Given the description of an element on the screen output the (x, y) to click on. 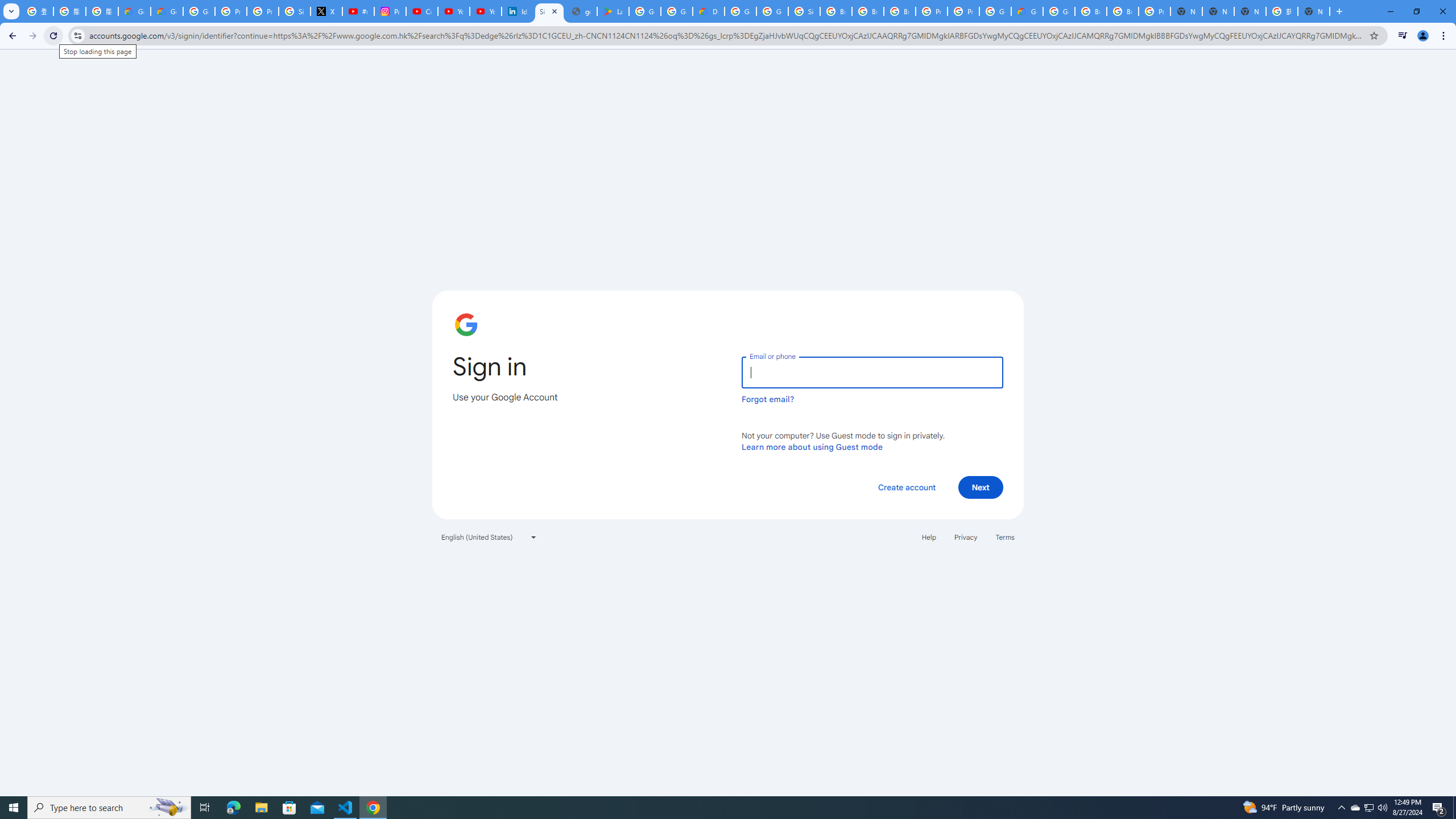
Email or phone (871, 372)
Sign in - Google Accounts (804, 11)
